Given the description of an element on the screen output the (x, y) to click on. 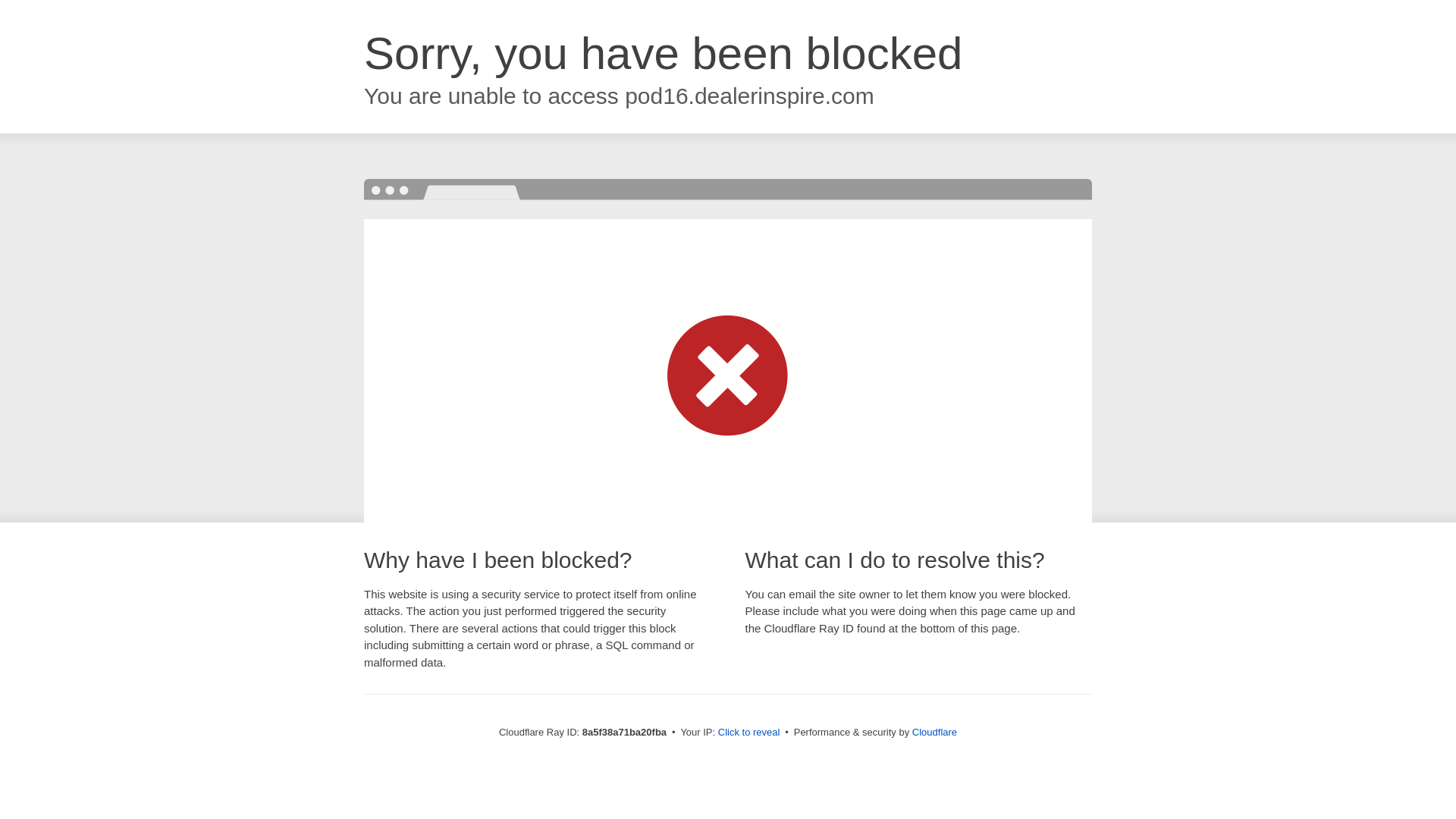
Click to reveal (748, 732)
Cloudflare (934, 731)
